Given the description of an element on the screen output the (x, y) to click on. 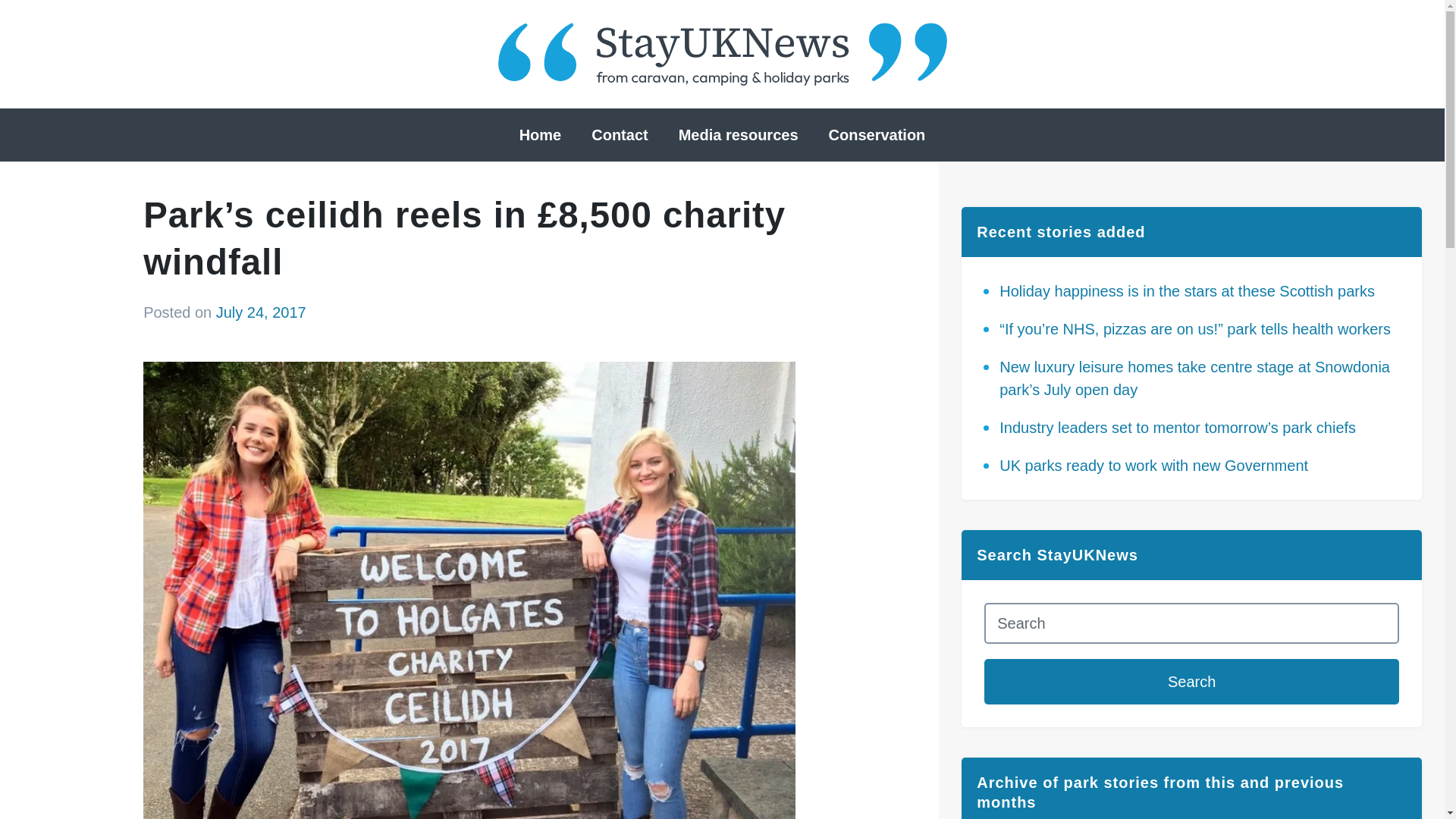
Search (1191, 681)
Home (539, 135)
July 24, 2017 (260, 312)
Contact (619, 135)
Holiday happiness is in the stars at these Scottish parks (1186, 290)
StayUKNews.co.uk (722, 53)
Search (1191, 681)
Media resources (738, 135)
UK parks ready to work with new Government (1152, 465)
Conservation (876, 135)
